Given the description of an element on the screen output the (x, y) to click on. 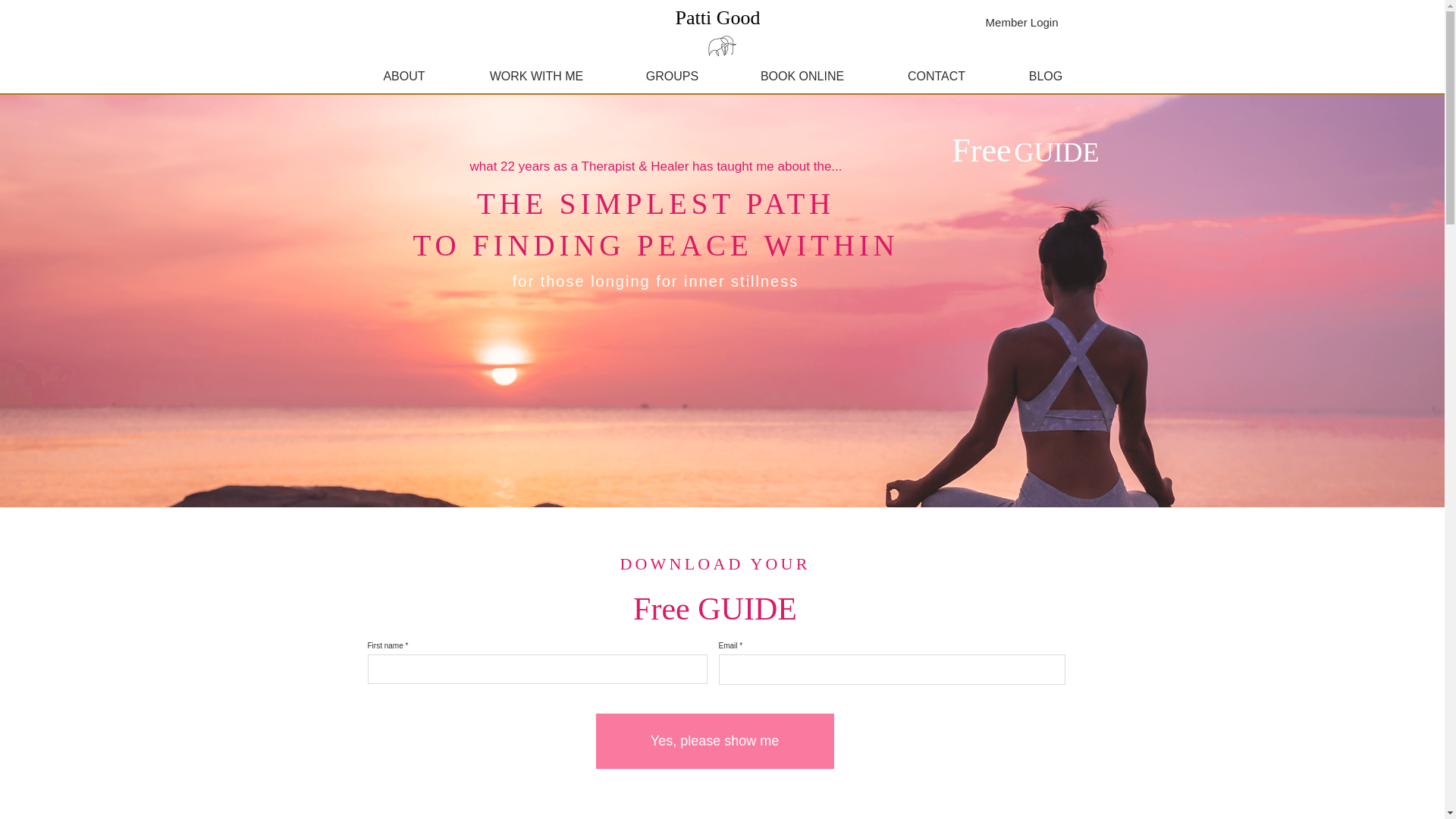
BLOG (1045, 75)
ABOUT (403, 75)
Yes, please show me (714, 741)
WORK WITH ME (536, 75)
CONTACT (936, 75)
GROUPS (672, 75)
BOOK ONLINE (802, 75)
Member Login (1021, 21)
